Given the description of an element on the screen output the (x, y) to click on. 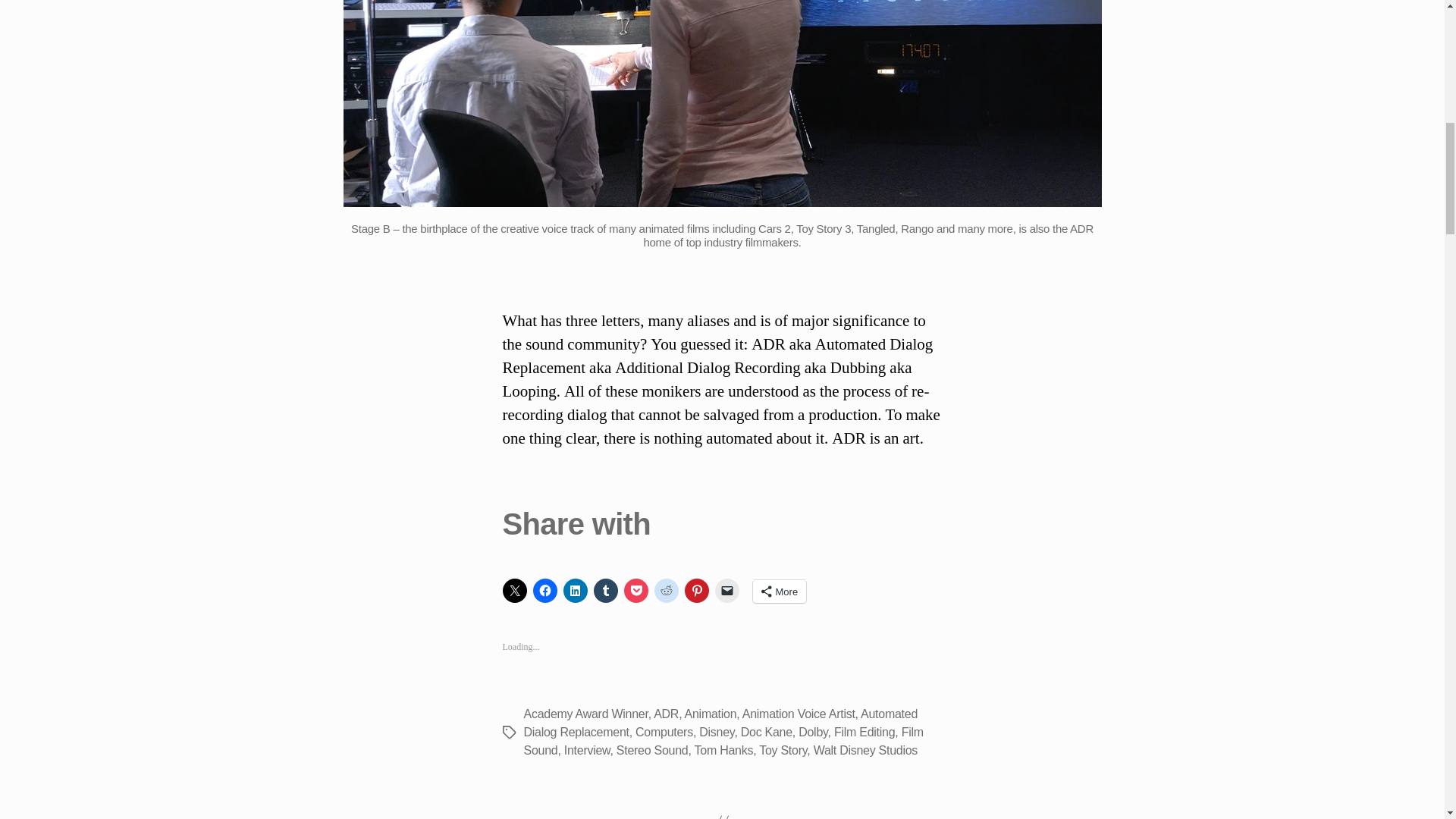
Click to share on Pocket (635, 590)
Click to share on Tumblr (604, 590)
Click to share on X (513, 590)
Click to email a link to a friend (726, 590)
Click to share on LinkedIn (574, 590)
Click to share on Facebook (544, 590)
Click to share on Reddit (665, 590)
Click to share on Pinterest (695, 590)
